Given the description of an element on the screen output the (x, y) to click on. 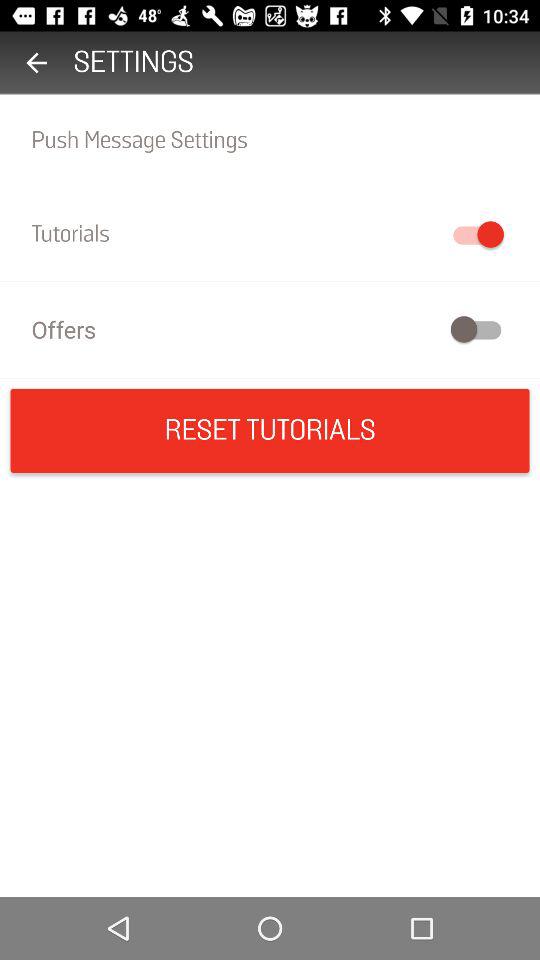
jump to the reset tutorials item (269, 430)
